Given the description of an element on the screen output the (x, y) to click on. 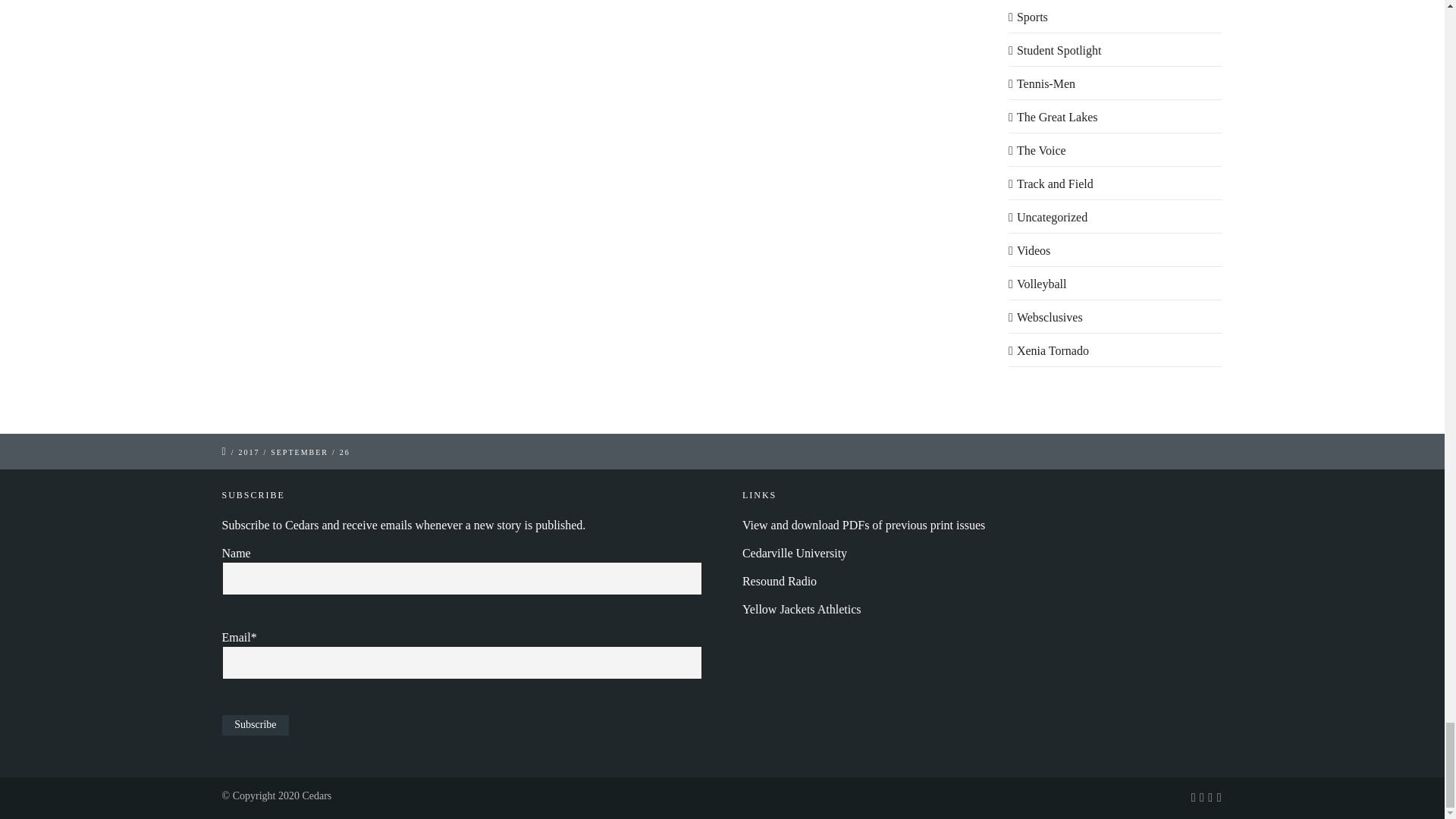
Yellow Jackets Athletics (801, 608)
Cedarville University (794, 553)
Resound Radio (779, 581)
Previous issues (863, 524)
Subscribe (254, 724)
